Given the description of an element on the screen output the (x, y) to click on. 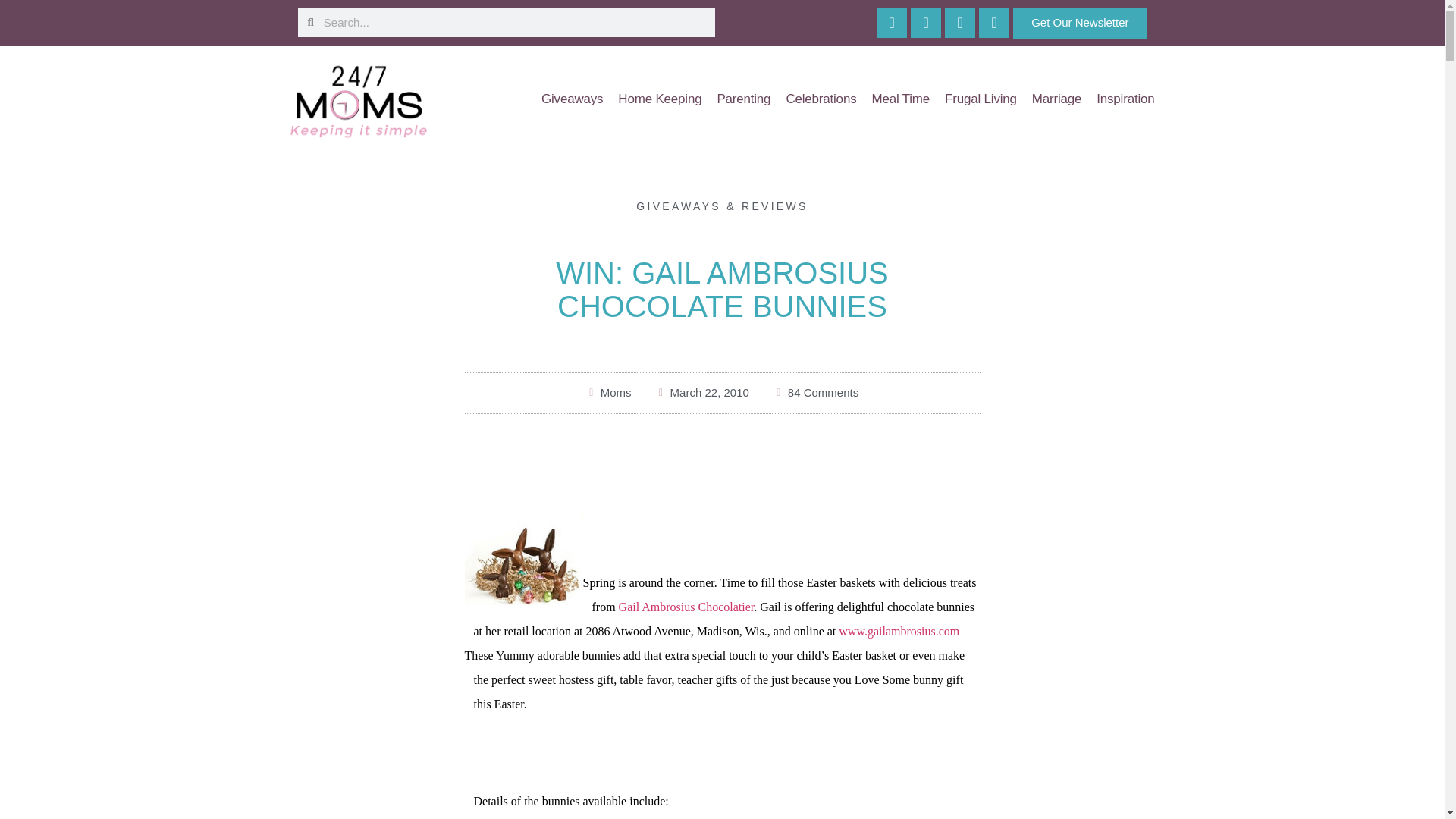
Home Keeping (659, 99)
Giveaways (571, 99)
Get Our Newsletter (1080, 22)
Parenting (743, 99)
